Given the description of an element on the screen output the (x, y) to click on. 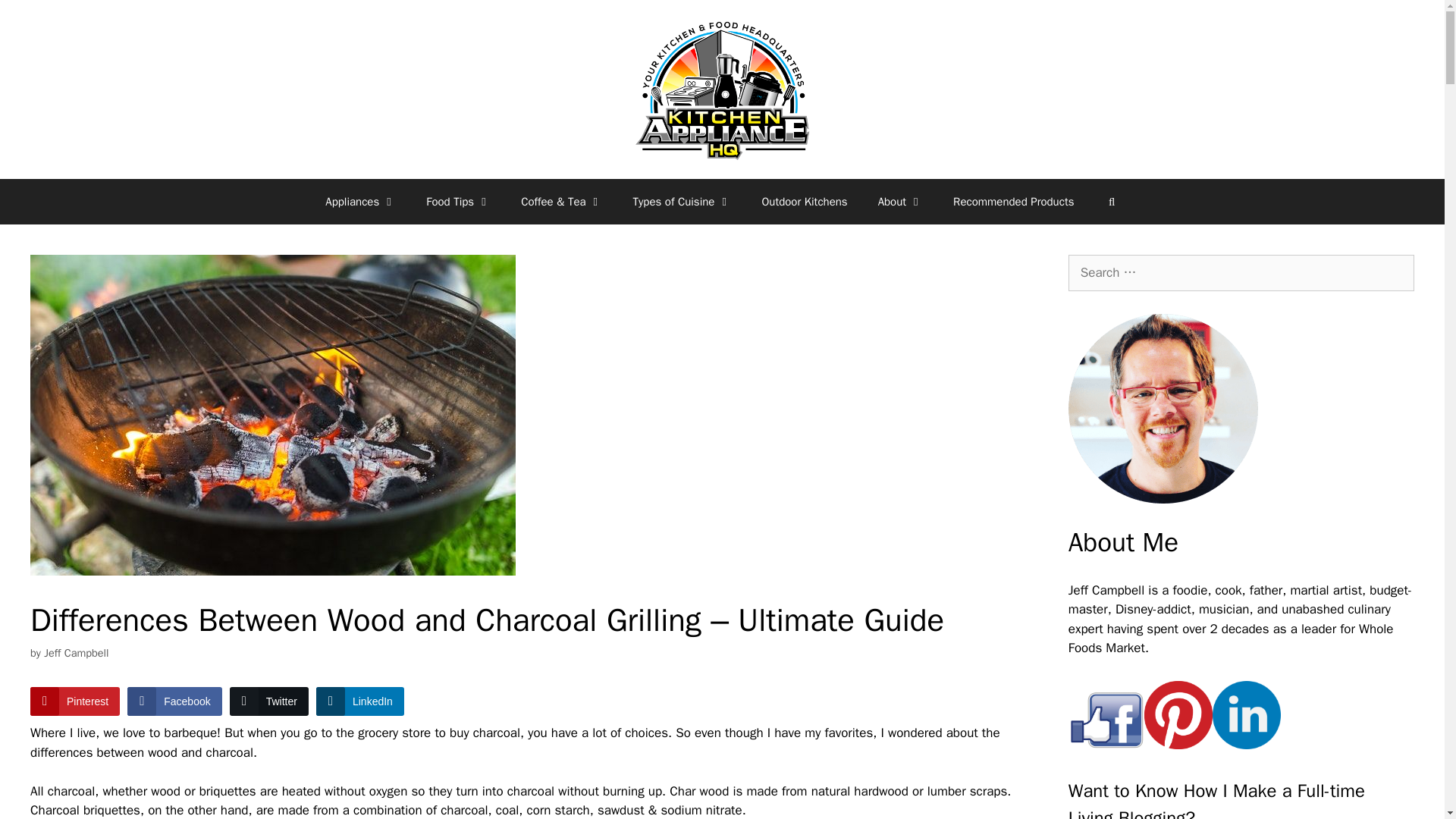
Search for: (1240, 272)
About (900, 201)
Outdoor Kitchens (803, 201)
Types of Cuisine (681, 201)
View all posts by Jeff Campbell (75, 653)
Food Tips (457, 201)
Appliances (360, 201)
